Given the description of an element on the screen output the (x, y) to click on. 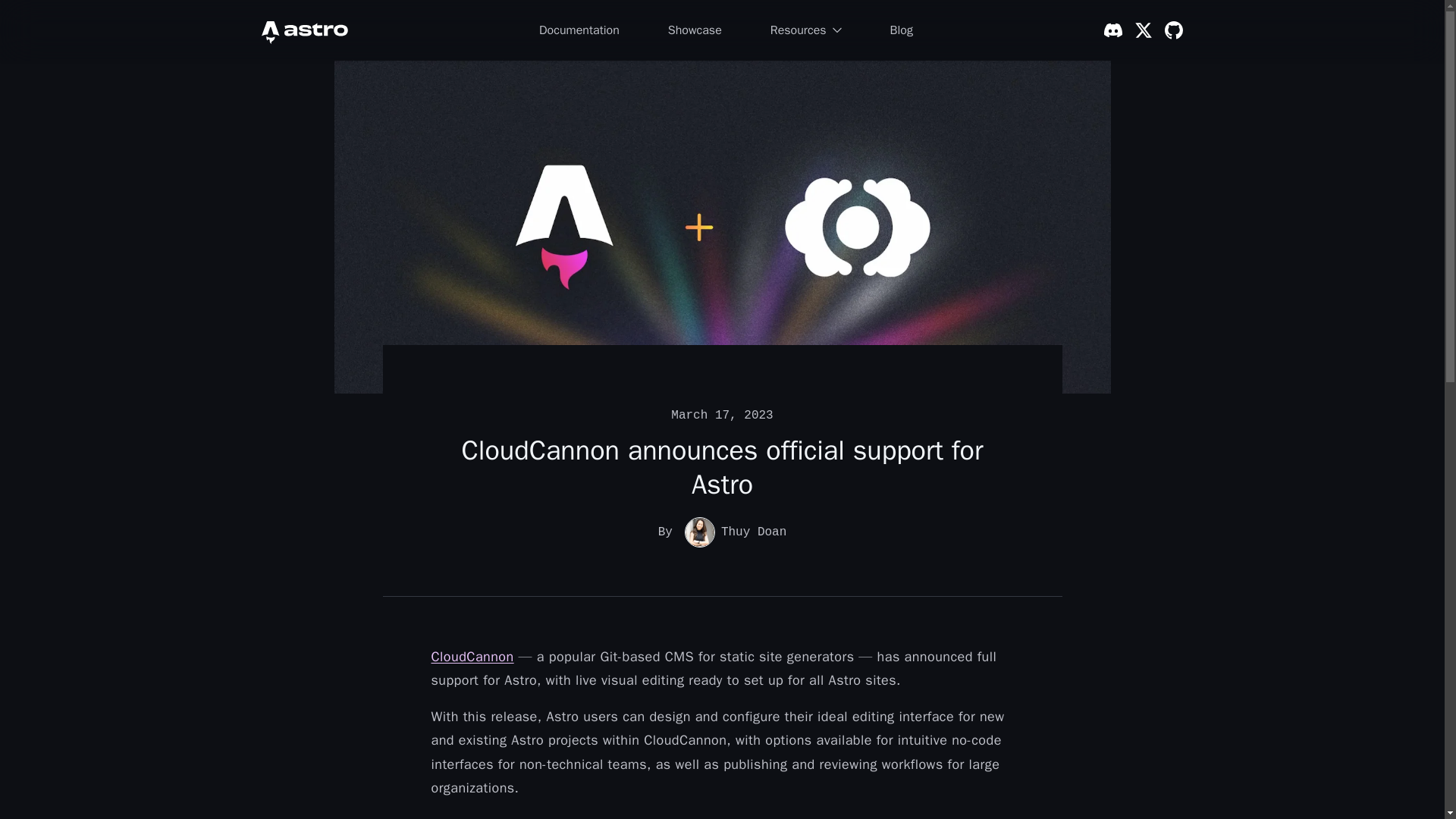
Astro Logo (303, 29)
Go to Astro's GitHub repo (1173, 30)
CloudCannon (471, 656)
Blog (900, 30)
Showcase (695, 30)
Documentation (579, 30)
Join the Astro community on Discord (1112, 30)
Home (303, 29)
